Given the description of an element on the screen output the (x, y) to click on. 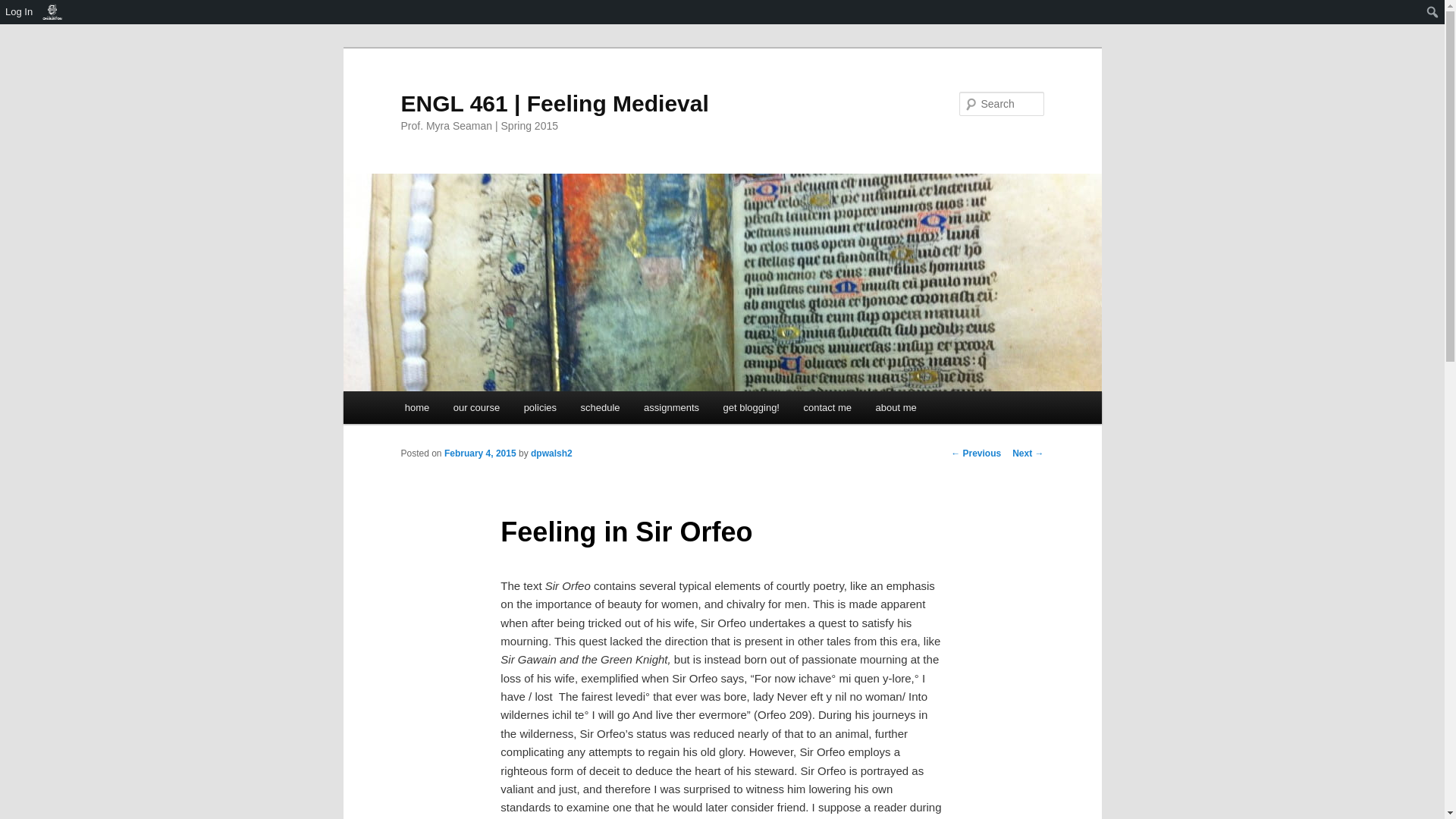
dpwalsh2 (551, 452)
our course (476, 407)
View all posts by dpwalsh2 (551, 452)
February 4, 2015 (480, 452)
policies (540, 407)
about me (895, 407)
home (417, 407)
Search (24, 8)
assignments (670, 407)
Search (16, 13)
get blogging! (751, 407)
About WordPress (52, 12)
contact me (827, 407)
schedule (600, 407)
